Given the description of an element on the screen output the (x, y) to click on. 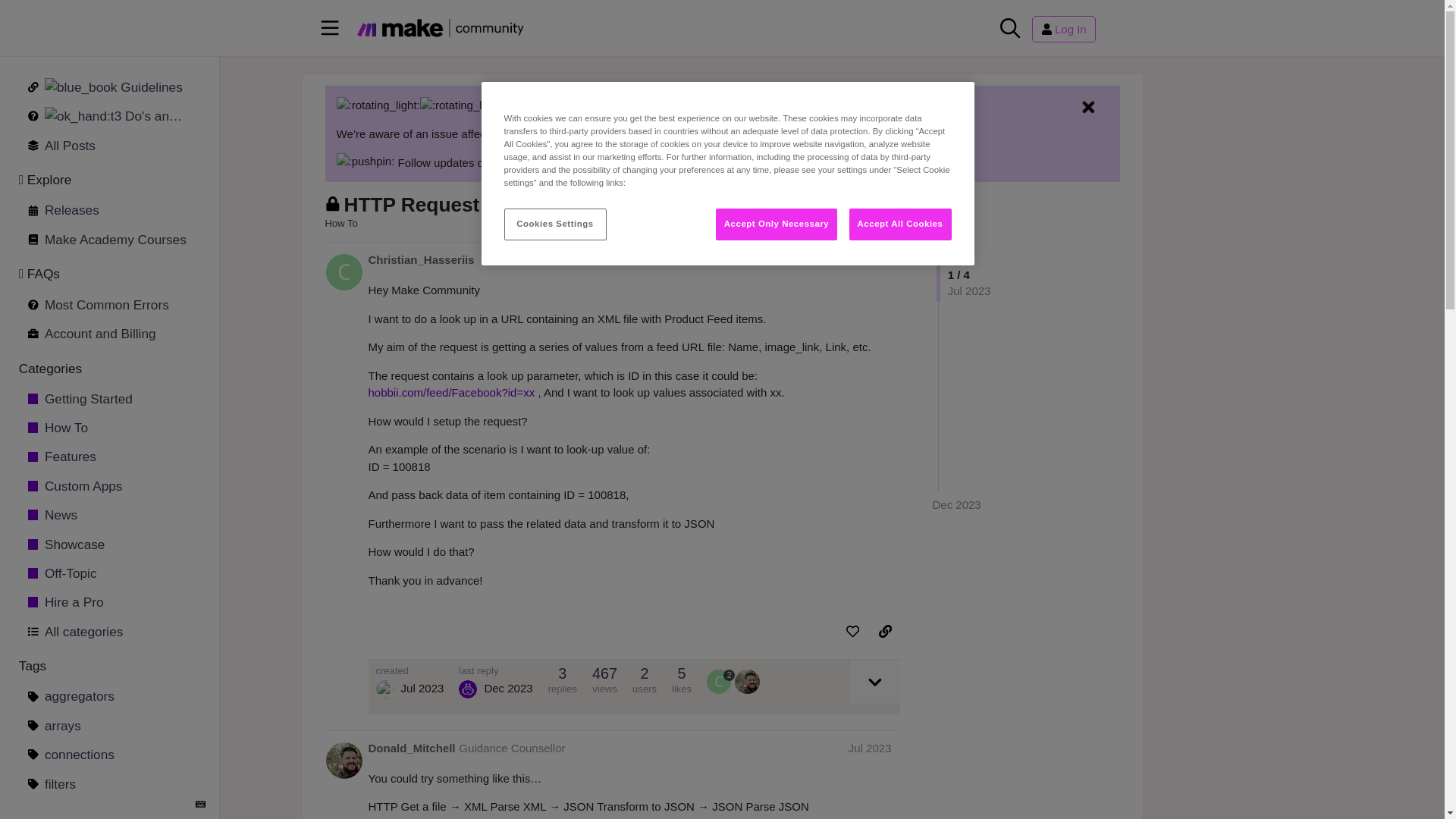
filters (108, 783)
Toggle section (97, 372)
Getting Started (108, 397)
Sidebar (330, 28)
Do's and Don'ts (108, 116)
Get news from the Make side - updates, releases, and more. (108, 515)
arrays (108, 724)
Make Academy Courses (108, 239)
Guidelines for using this site (108, 116)
aggregators (108, 696)
All Posts (108, 144)
Hire a Pro (108, 601)
All topics (108, 144)
Off-Topic (108, 572)
